Given the description of an element on the screen output the (x, y) to click on. 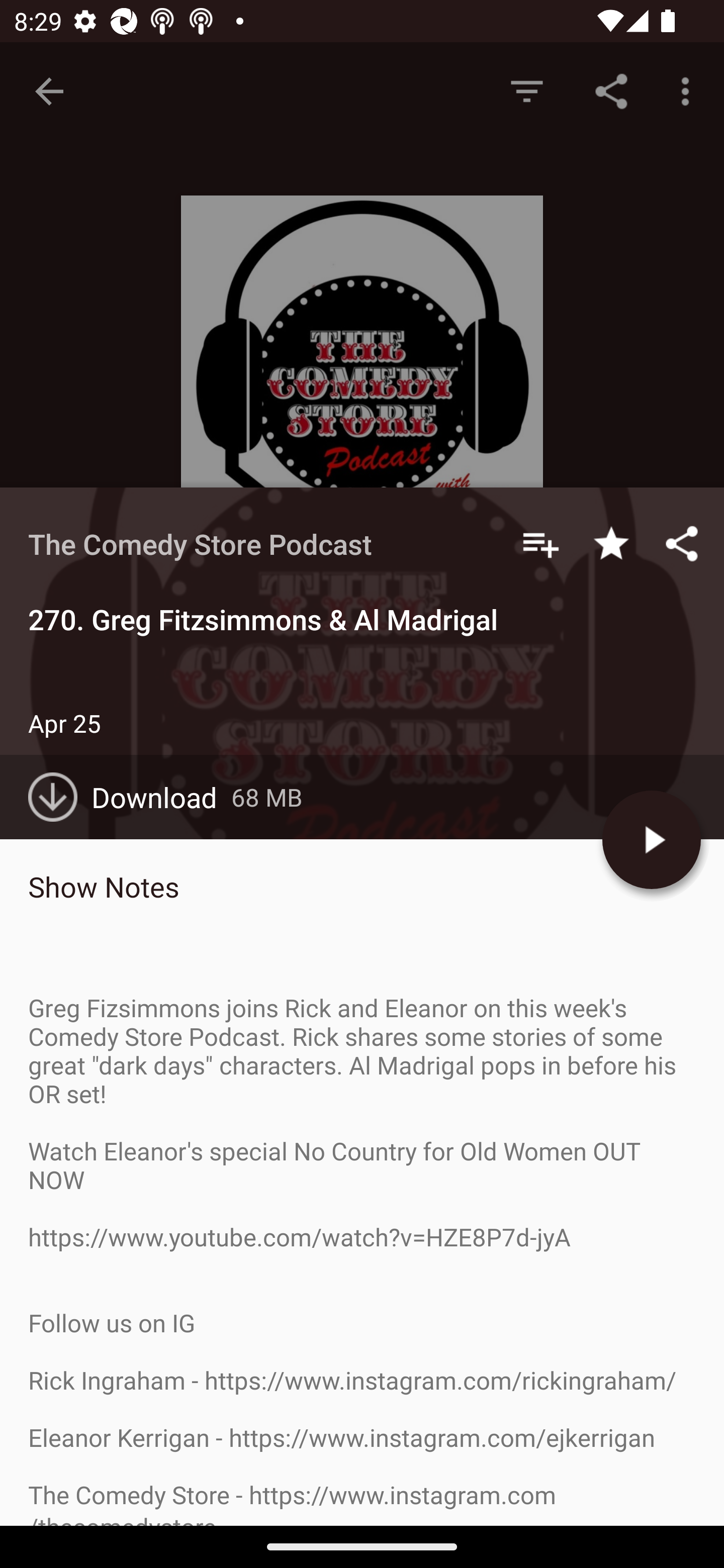
Navigate up (49, 91)
Hide Episodes (526, 90)
Share Link (611, 90)
More options (688, 90)
Download (129, 797)
Apr 18 269. Jeff Danis Download 105 MB (362, 885)
Apr 11 268. Fahim Anwar Download 54 MB (362, 998)
Mar 28 266. Kevin Christy Download 145 MB (362, 1224)
